Given the description of an element on the screen output the (x, y) to click on. 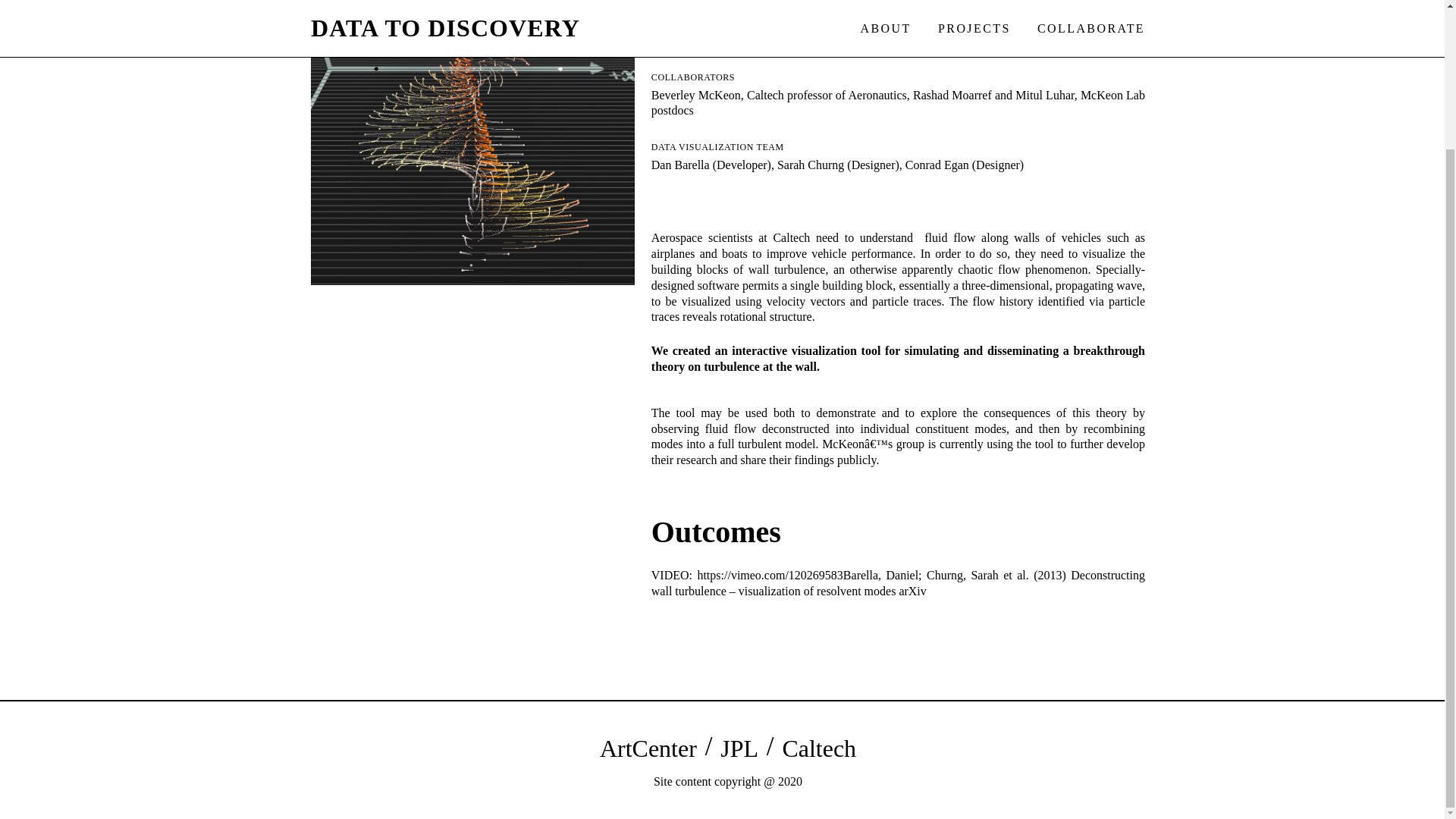
ArtCenter (648, 748)
Caltech (818, 748)
JPL (739, 748)
